Given the description of an element on the screen output the (x, y) to click on. 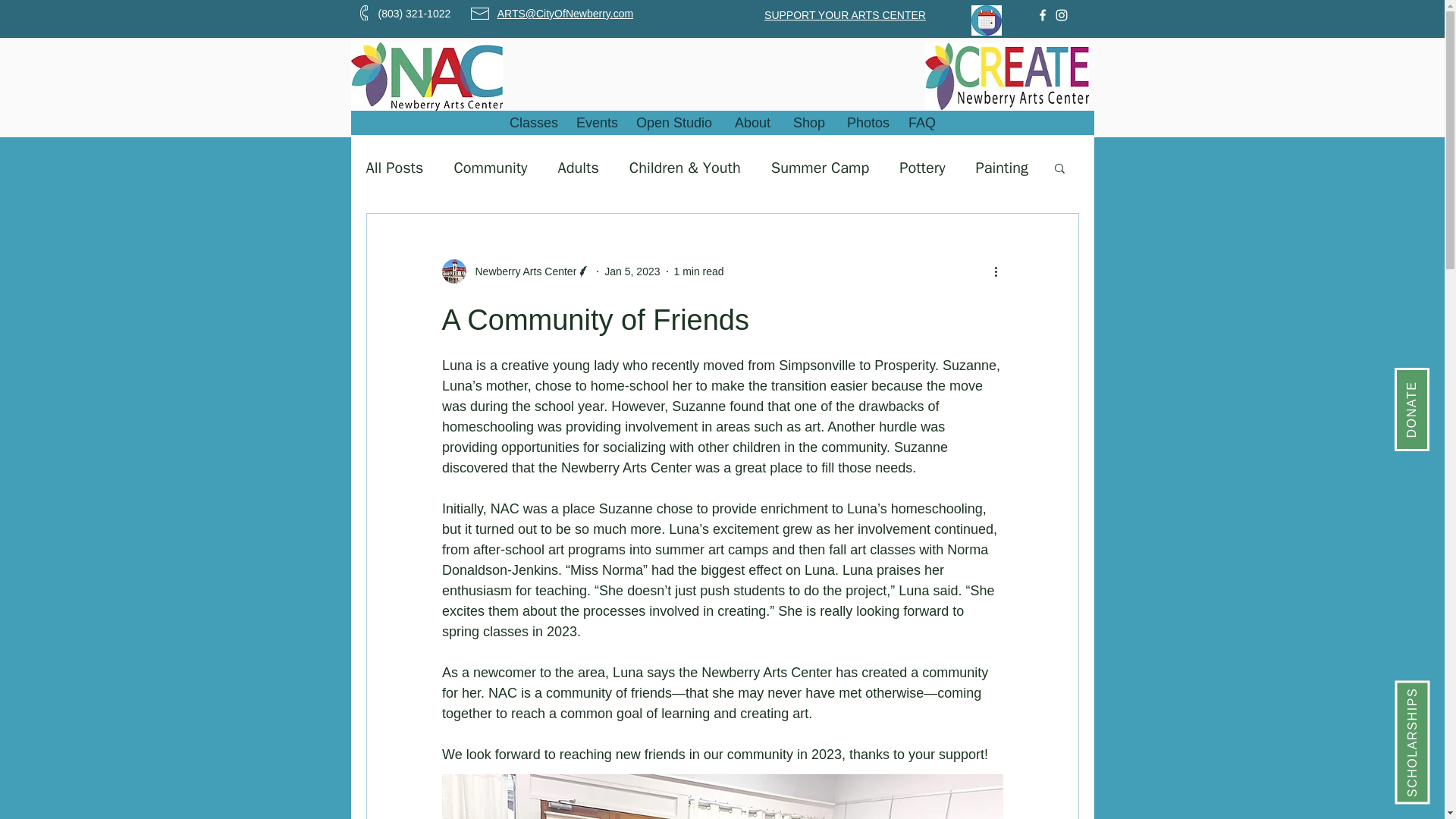
Adults (577, 168)
Summer Camp (820, 168)
mail.png (479, 13)
Classes (530, 122)
Jan 5, 2023 (631, 271)
SUPPORT YOUR ARTS CENTER (845, 13)
All Posts (394, 168)
Events (594, 122)
1 min read (697, 271)
FAQ (921, 122)
